Given the description of an element on the screen output the (x, y) to click on. 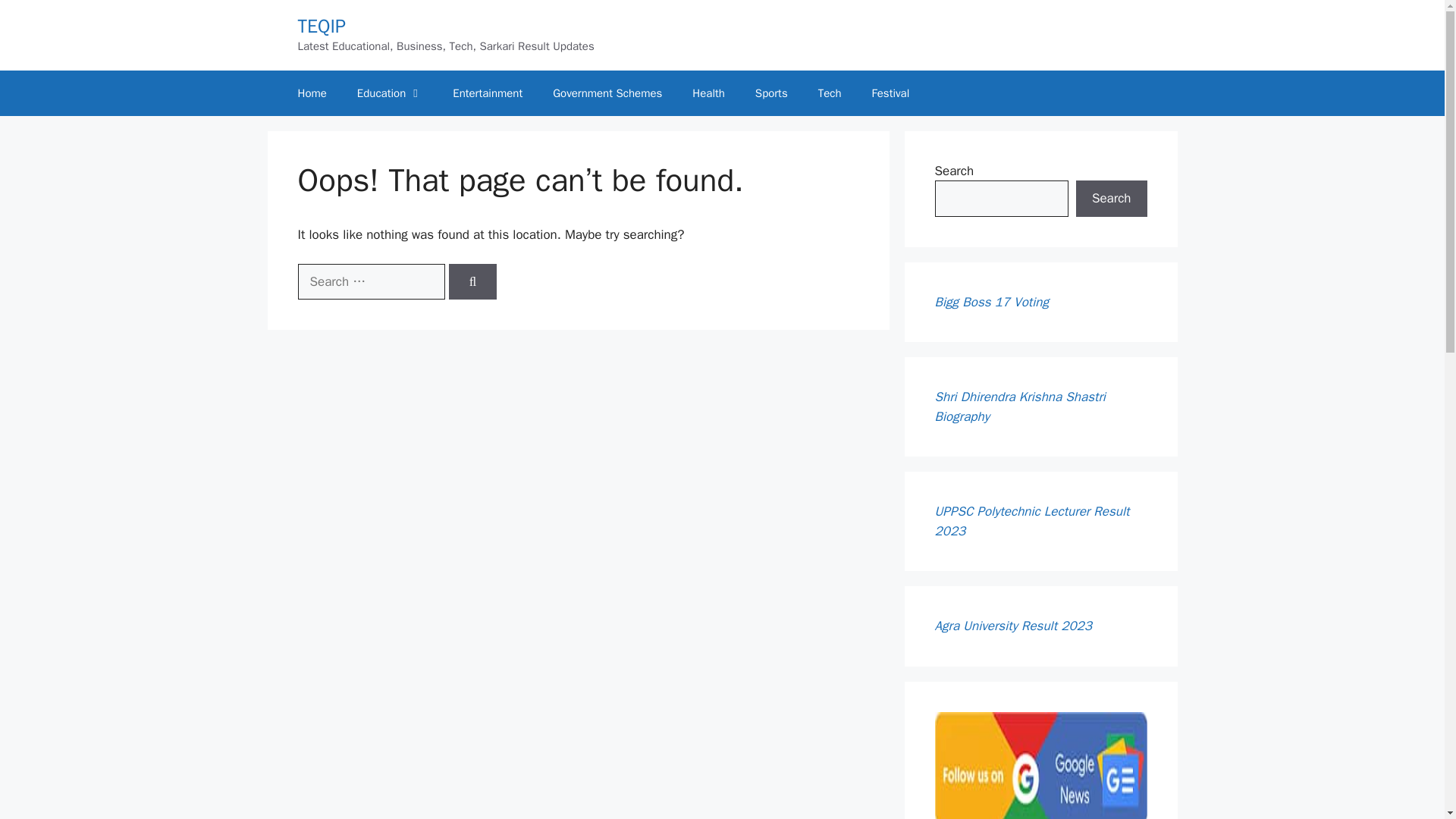
Shri Dhirendra Krishna Shastri (1019, 396)
Search for: (370, 281)
Festival (890, 92)
Tech (830, 92)
Home (311, 92)
Agra University Result 2023 (1013, 625)
Sports (771, 92)
TEQIP (321, 25)
Health (708, 92)
Government Schemes (607, 92)
Search (1111, 198)
UPPSC Polytechnic Lecturer Result 2023 (1031, 520)
Bigg Boss 17 Voting (991, 302)
Education (390, 92)
Entertainment (487, 92)
